Given the description of an element on the screen output the (x, y) to click on. 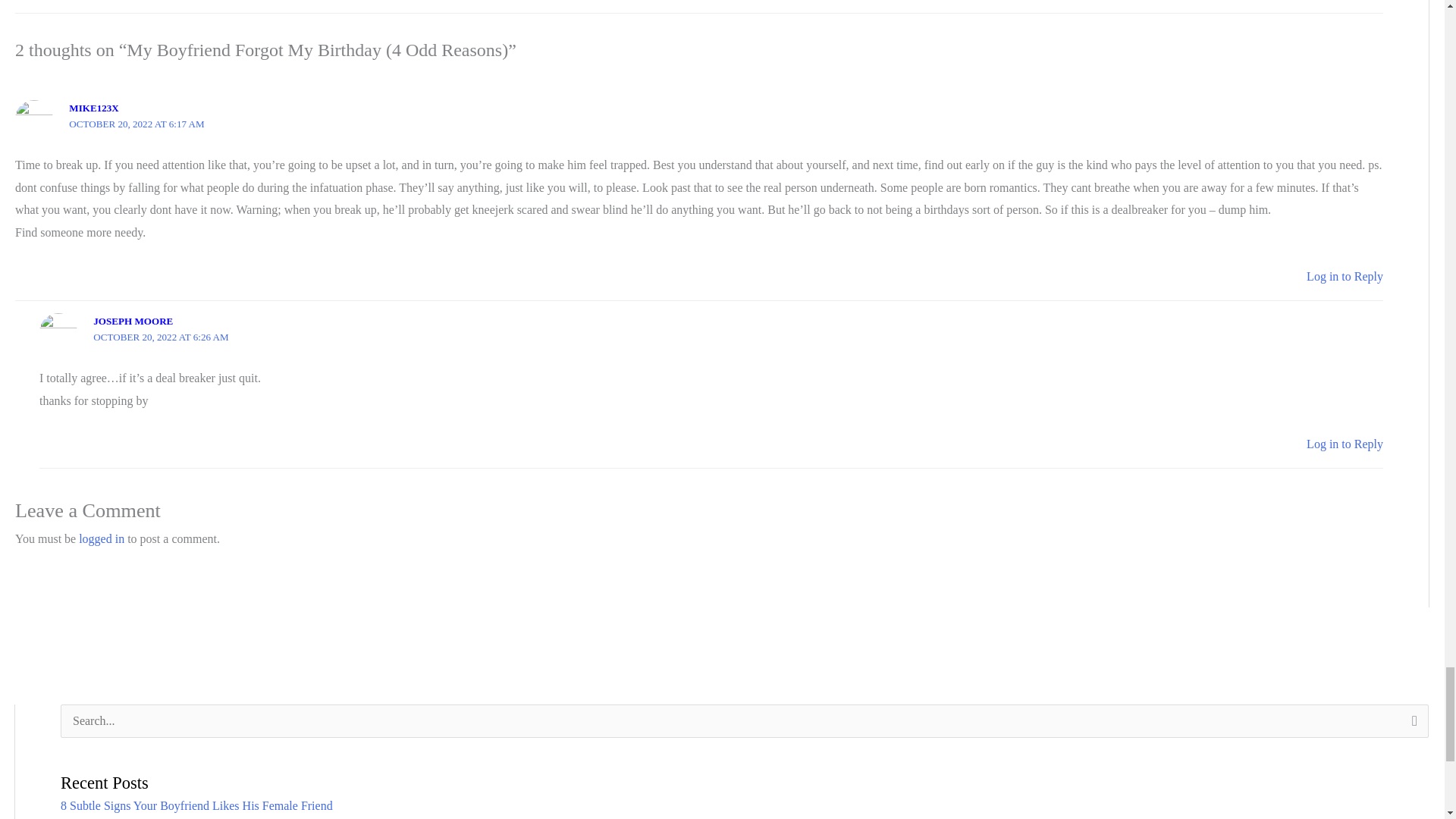
OCTOBER 20, 2022 AT 6:26 AM (160, 337)
Log in to Reply (1344, 443)
8 Subtle Signs Your Boyfriend Likes His Female Friend (197, 805)
OCTOBER 20, 2022 AT 6:17 AM (135, 123)
Log in to Reply (1344, 276)
logged in (100, 538)
